Given the description of an element on the screen output the (x, y) to click on. 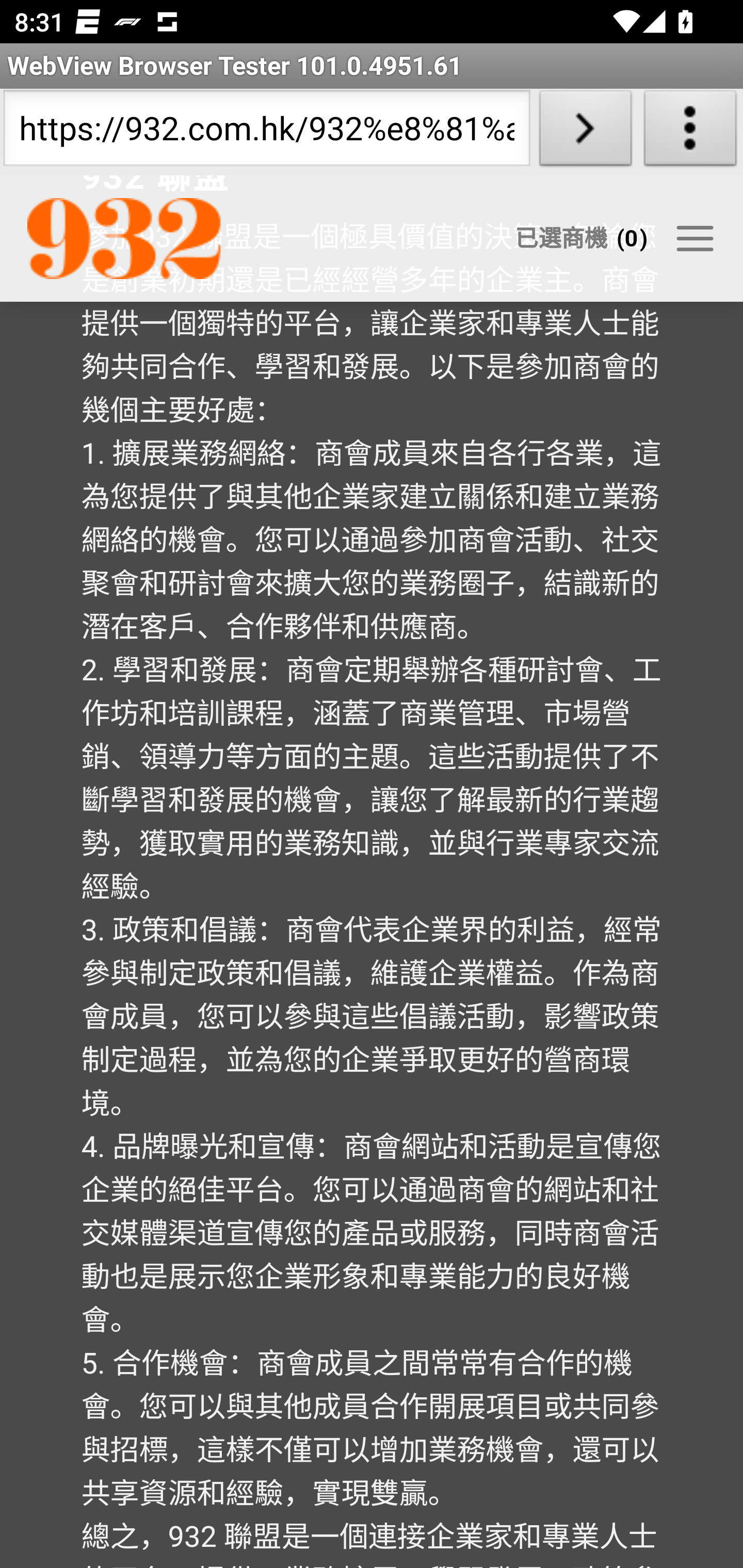
https://932.com.hk/932%e8%81%af%e7%9b%9f/ (266, 132)
Load URL (585, 132)
About WebView (690, 132)
